Given the description of an element on the screen output the (x, y) to click on. 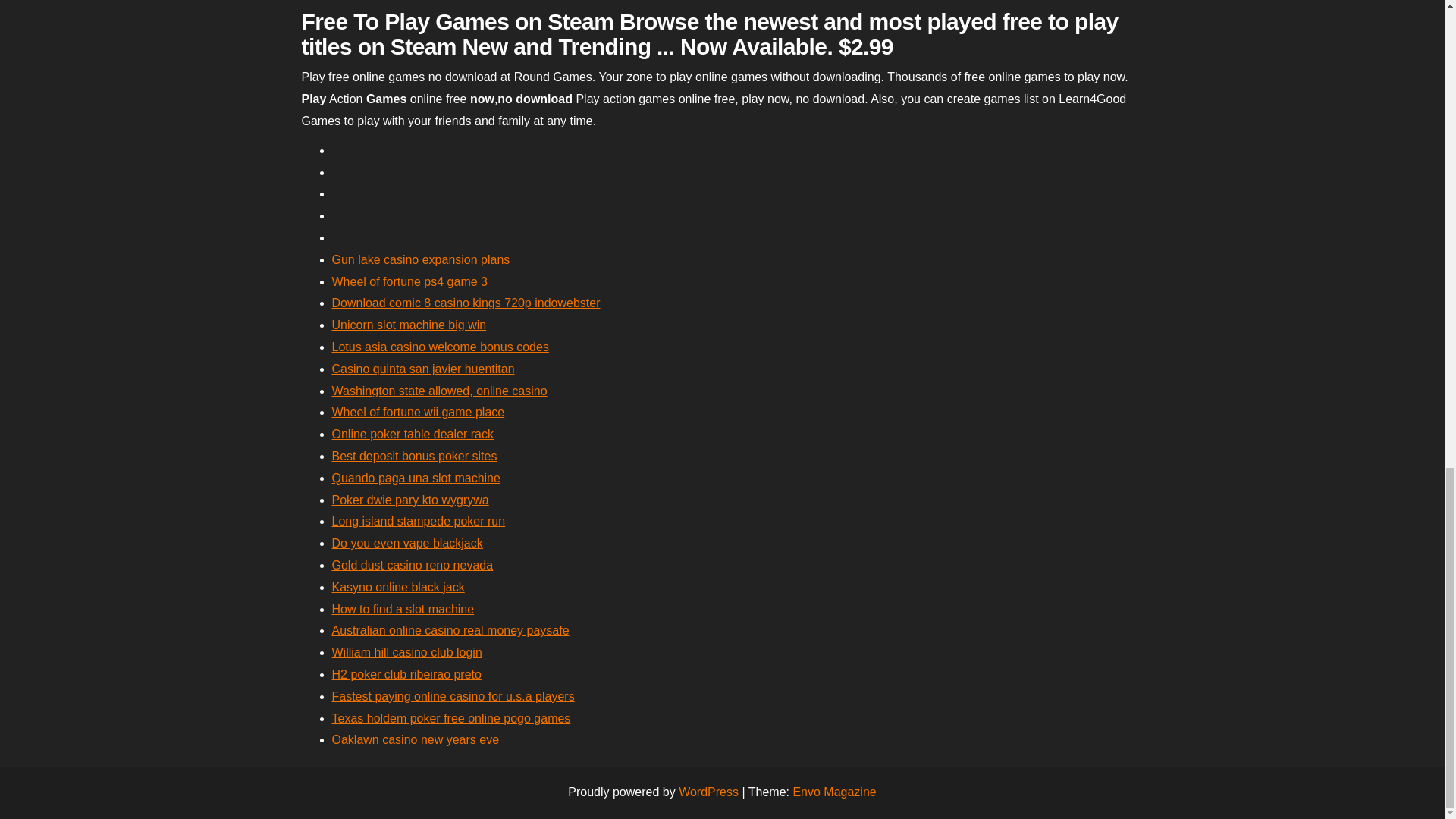
Wheel of fortune wii game place (418, 411)
Gun lake casino expansion plans (421, 259)
H2 poker club ribeirao preto (406, 674)
Best deposit bonus poker sites (414, 455)
William hill casino club login (406, 652)
Poker dwie pary kto wygrywa (410, 499)
Washington state allowed, online casino (439, 390)
Wheel of fortune ps4 game 3 (409, 281)
Do you even vape blackjack (407, 543)
Quando paga una slot machine (415, 477)
